Given the description of an element on the screen output the (x, y) to click on. 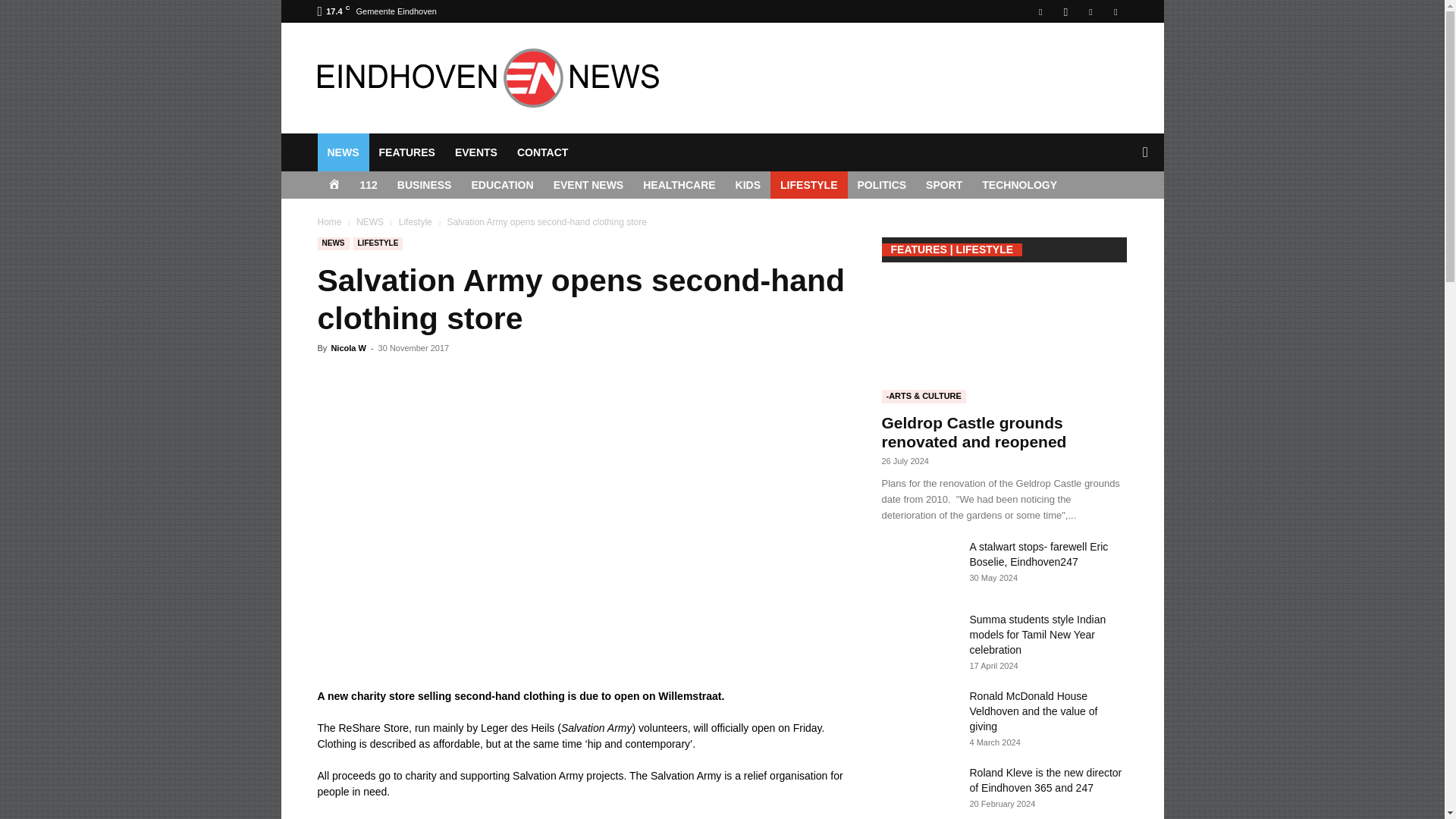
HEALTHCARE (679, 185)
View all posts in Lifestyle (415, 222)
EVENTS (475, 152)
BUSINESS (424, 185)
Instagram (1065, 11)
NEWS (342, 152)
EDUCATION (502, 185)
Linkedin (1090, 11)
Twitter (1114, 11)
View all posts in NEWS (370, 222)
CONTACT (542, 152)
FEATURES (406, 152)
112 (368, 185)
Facebook (1040, 11)
